Given the description of an element on the screen output the (x, y) to click on. 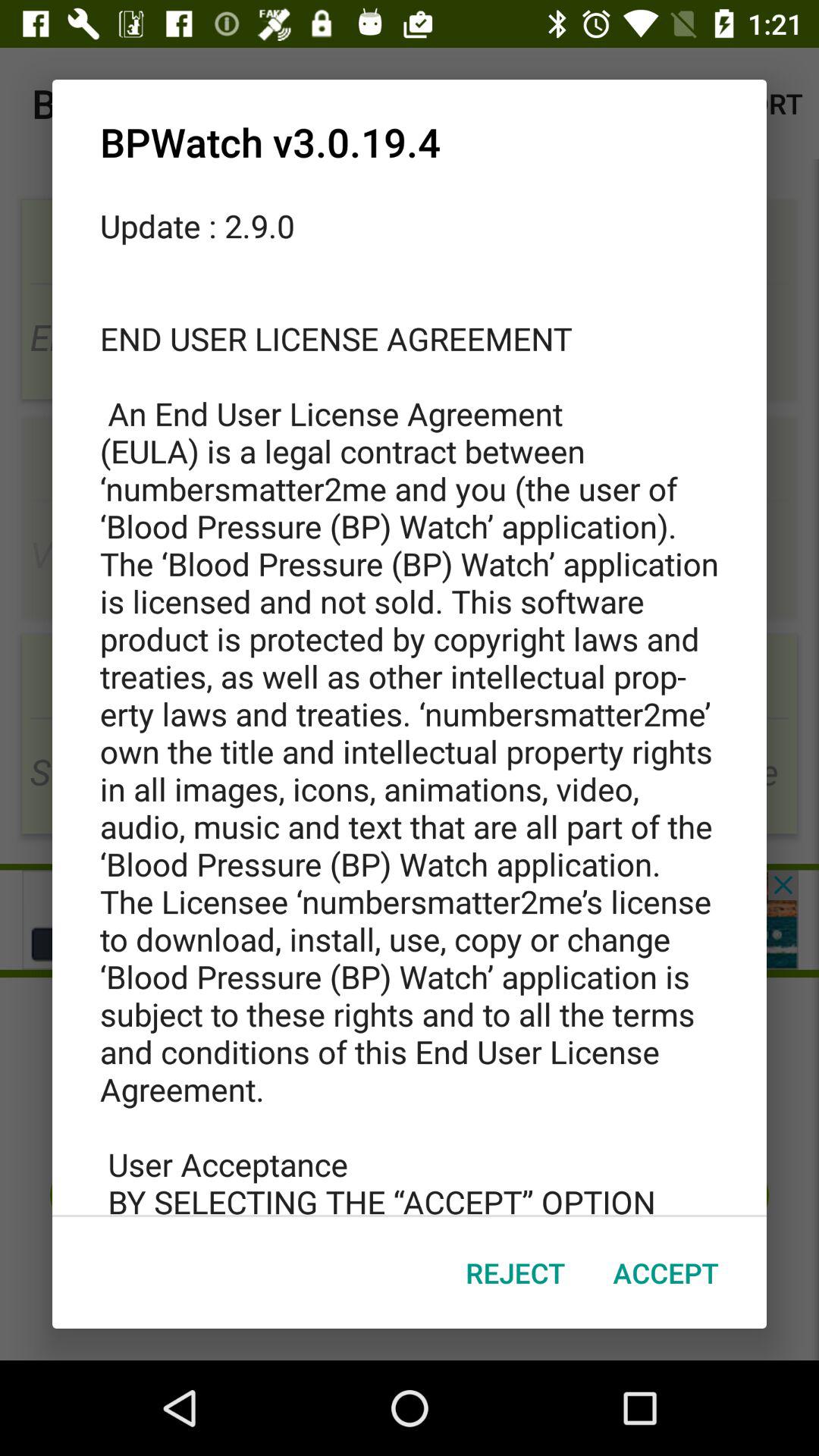
jump until the reject icon (515, 1272)
